Given the description of an element on the screen output the (x, y) to click on. 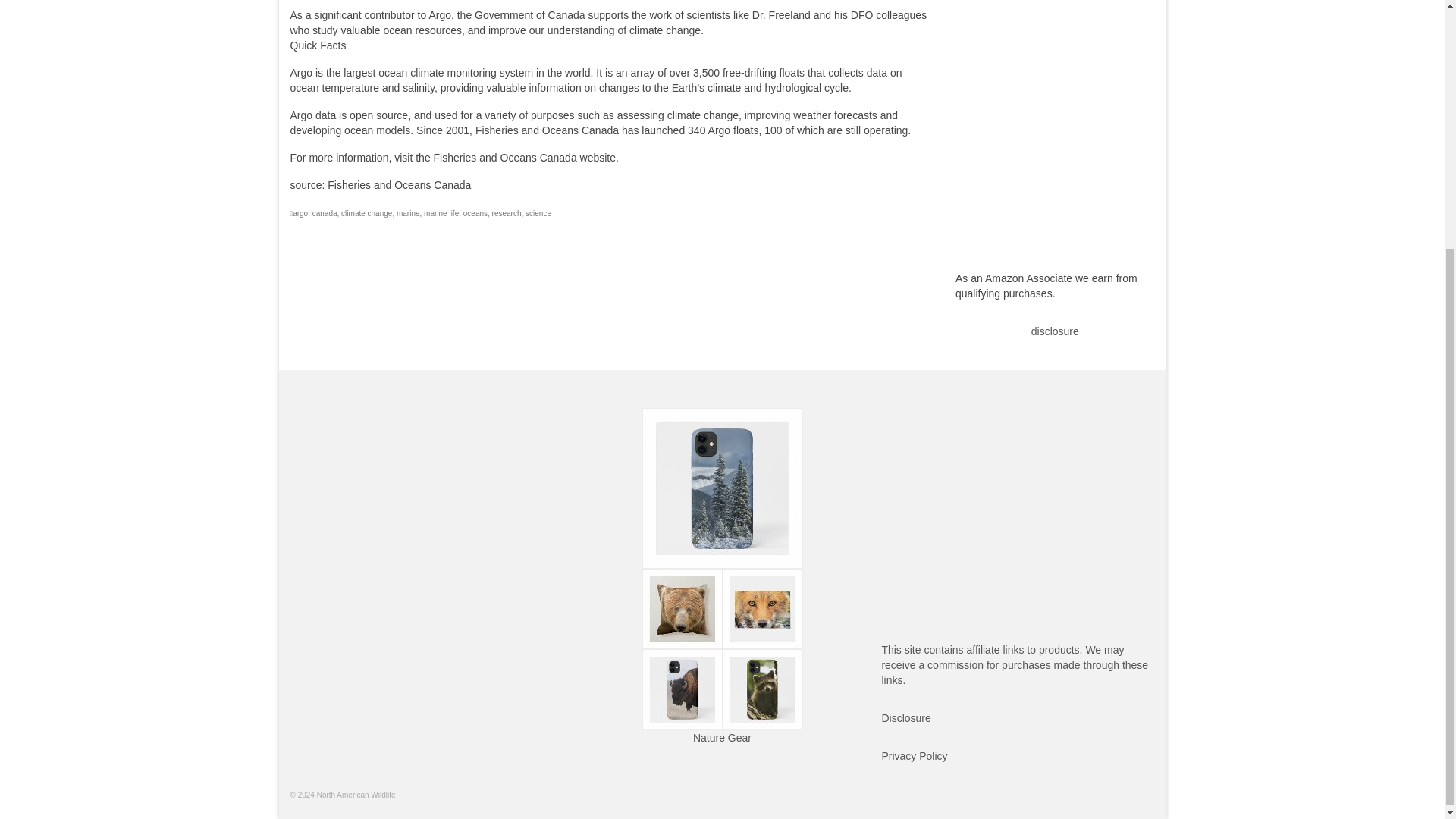
oceans (475, 213)
argo (299, 213)
canada (325, 213)
science (538, 213)
Nature Gear (722, 737)
Disclosure (905, 717)
research (506, 213)
climate change (365, 213)
marine (408, 213)
marine life (440, 213)
Advertisement (425, 513)
Privacy Policy (913, 756)
disclosure (1054, 331)
Advertisement (1017, 513)
